Given the description of an element on the screen output the (x, y) to click on. 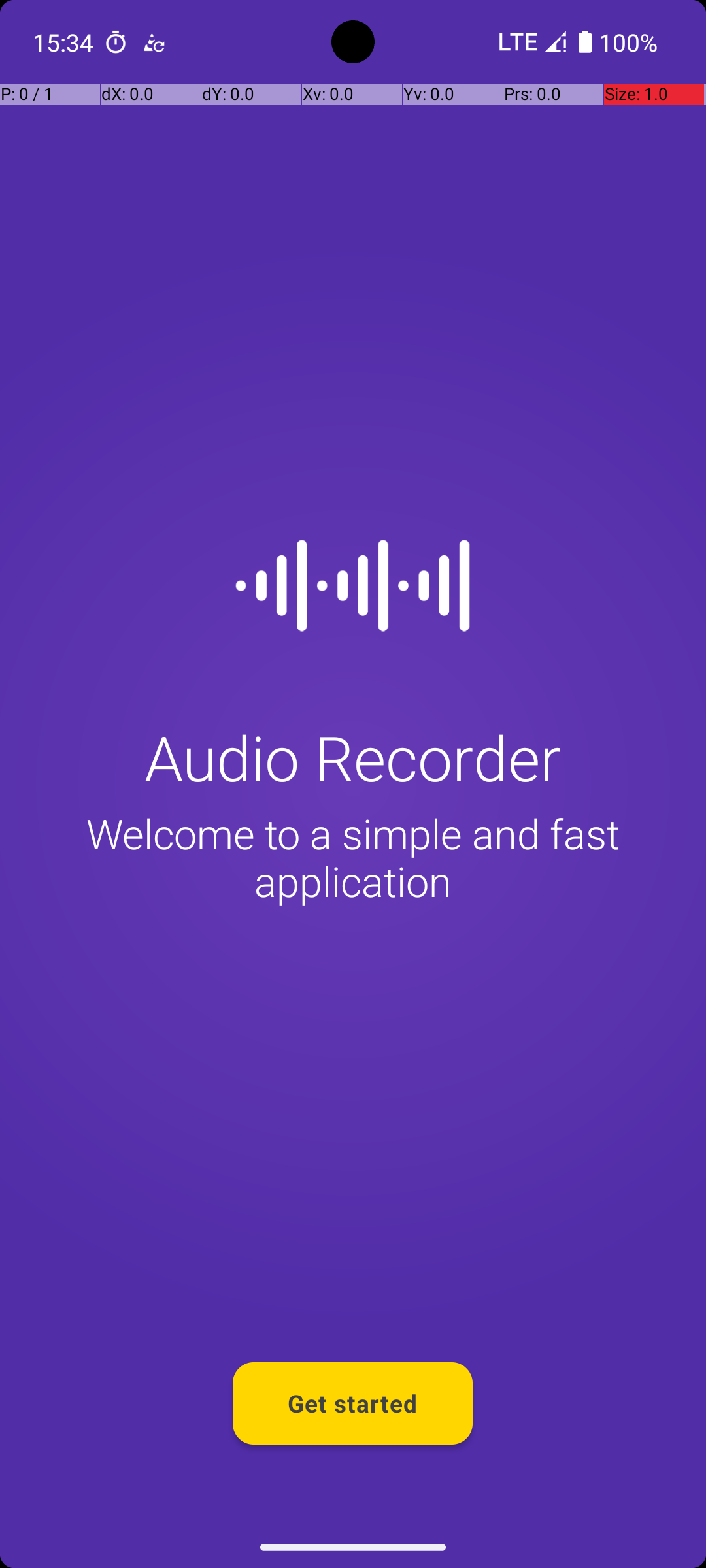
VLC notification: Scanning for media files Element type: android.widget.ImageView (153, 41)
